Given the description of an element on the screen output the (x, y) to click on. 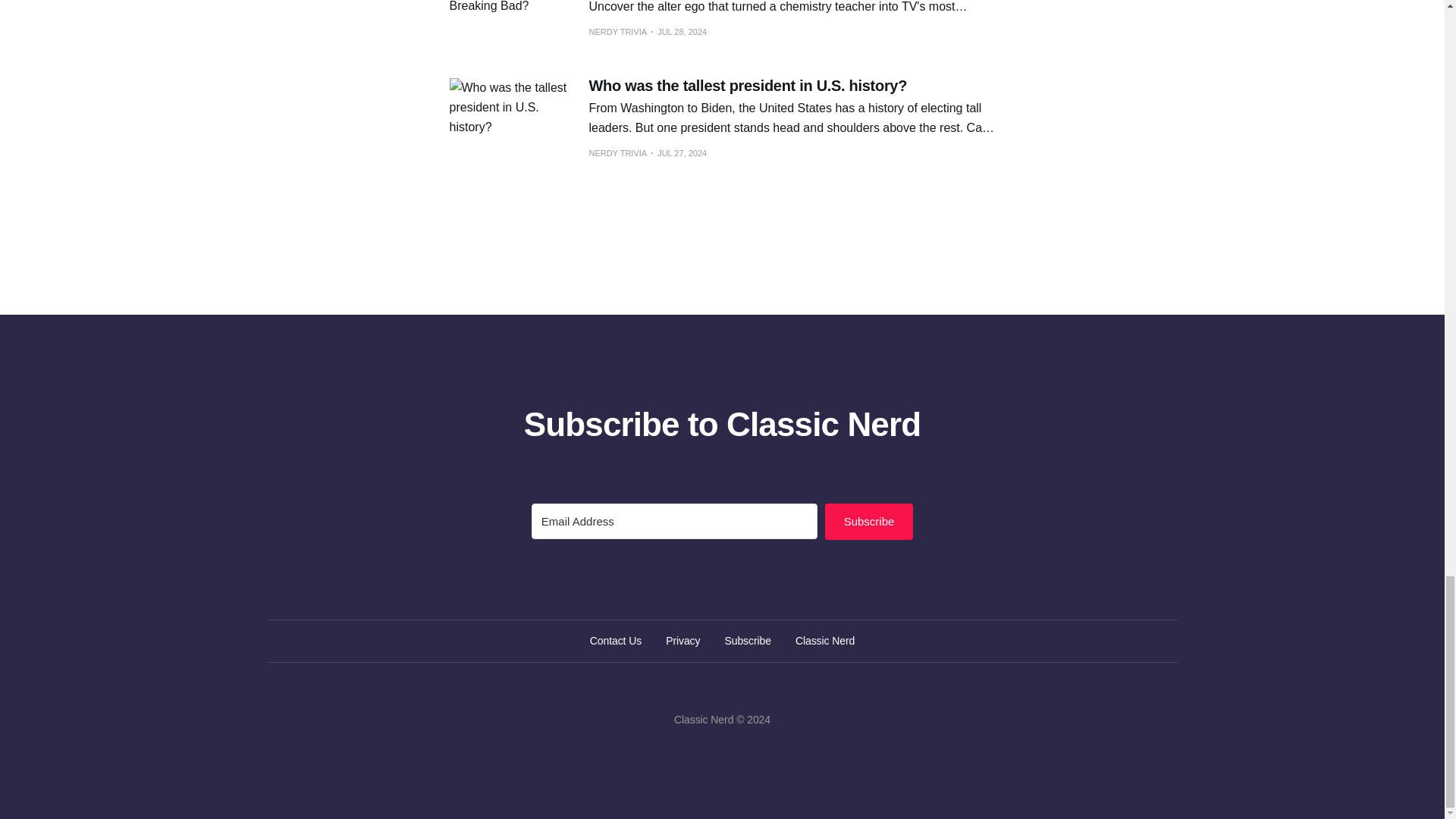
Classic Nerd (824, 640)
Subscribe (747, 640)
Privacy (682, 640)
Contact Us (615, 640)
Subscribe (868, 521)
